Given the description of an element on the screen output the (x, y) to click on. 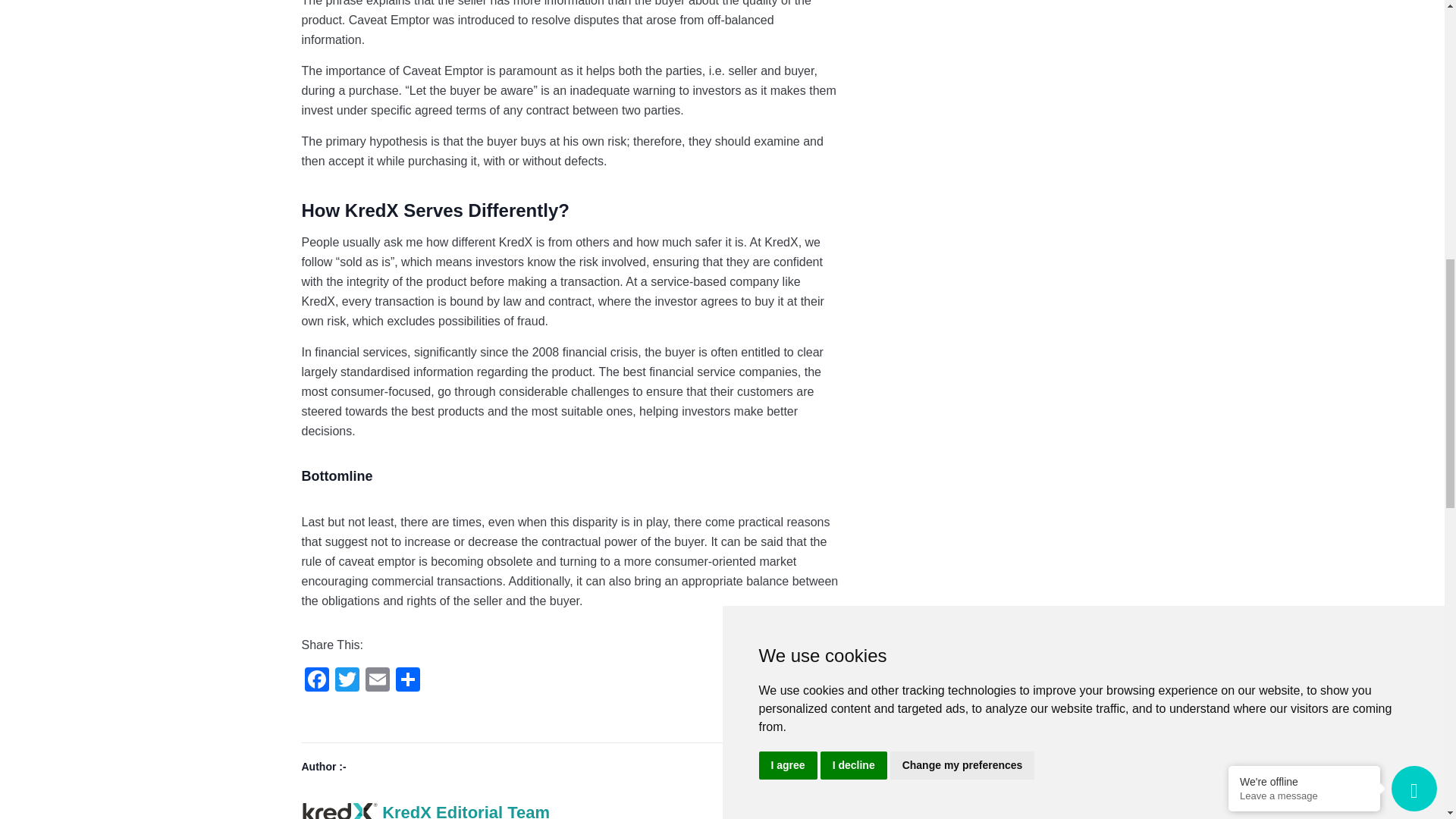
Twitter (346, 681)
Facebook (316, 681)
Email (377, 681)
Posts by KredX Editorial Team (465, 809)
